Given the description of an element on the screen output the (x, y) to click on. 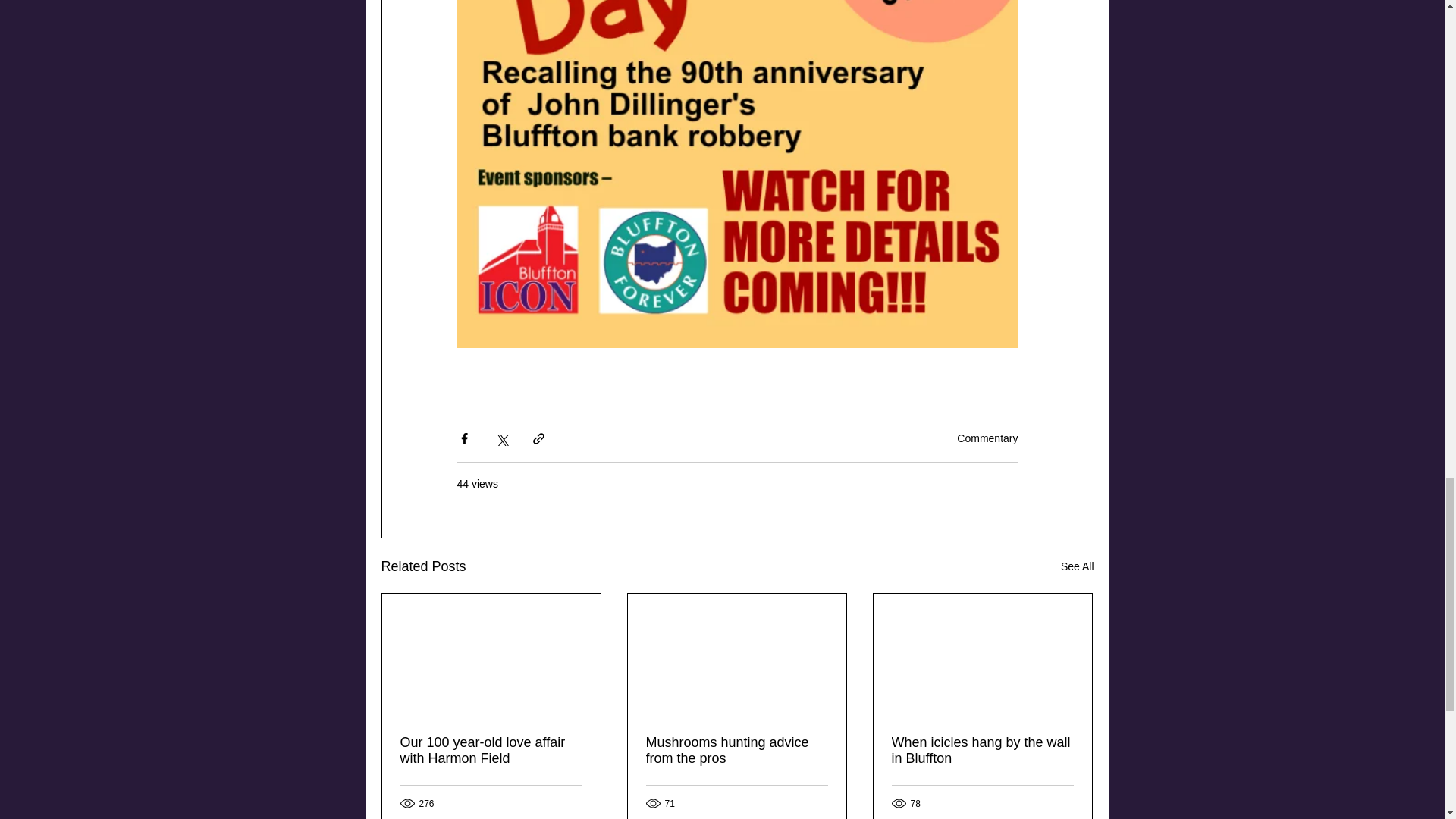
Our 100 year-old love affair with Harmon Field (491, 750)
Mushrooms hunting advice from the pros (737, 750)
See All (1077, 567)
Commentary (986, 438)
